Given the description of an element on the screen output the (x, y) to click on. 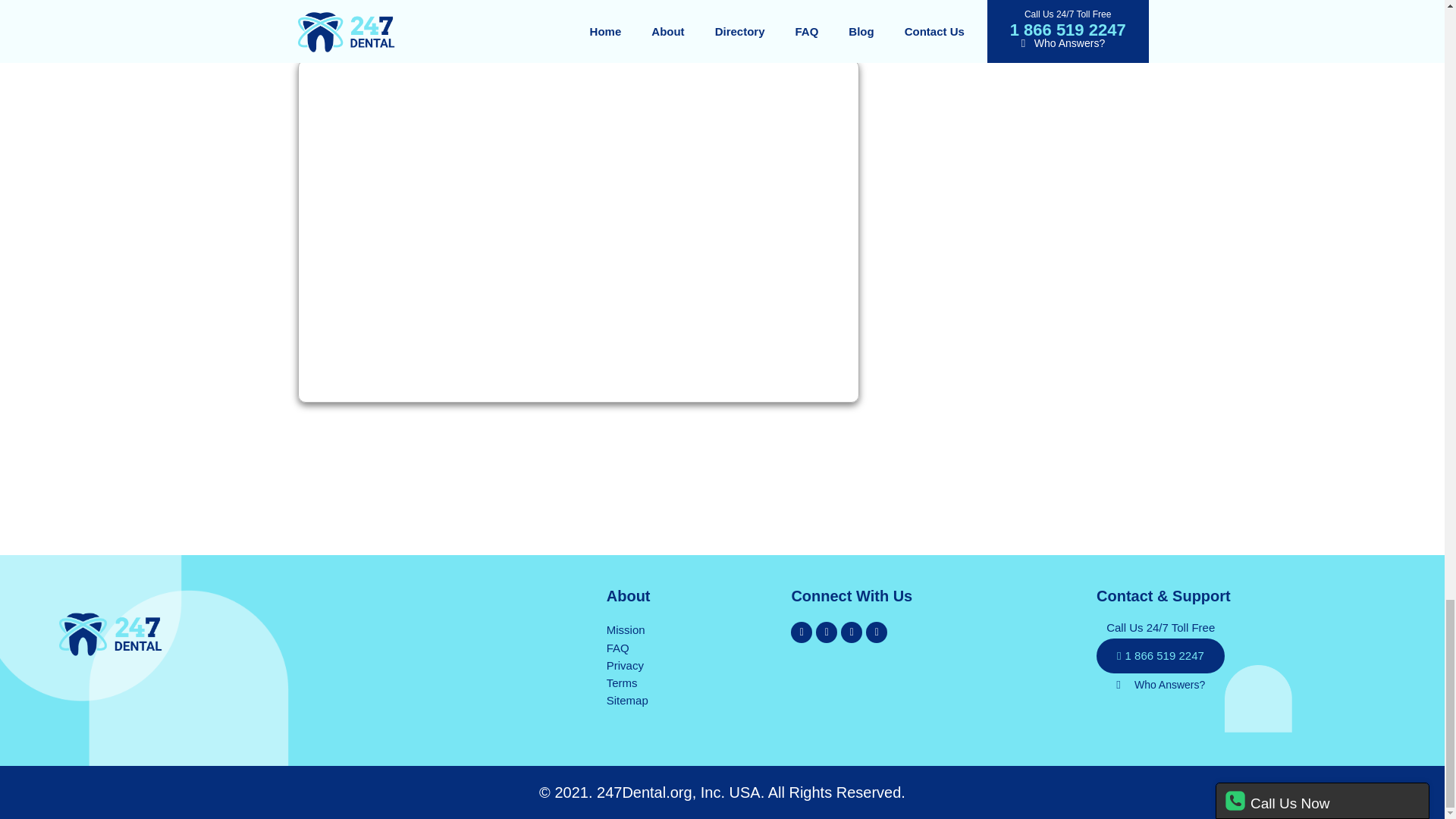
Mission (626, 629)
FAQ (617, 647)
